Given the description of an element on the screen output the (x, y) to click on. 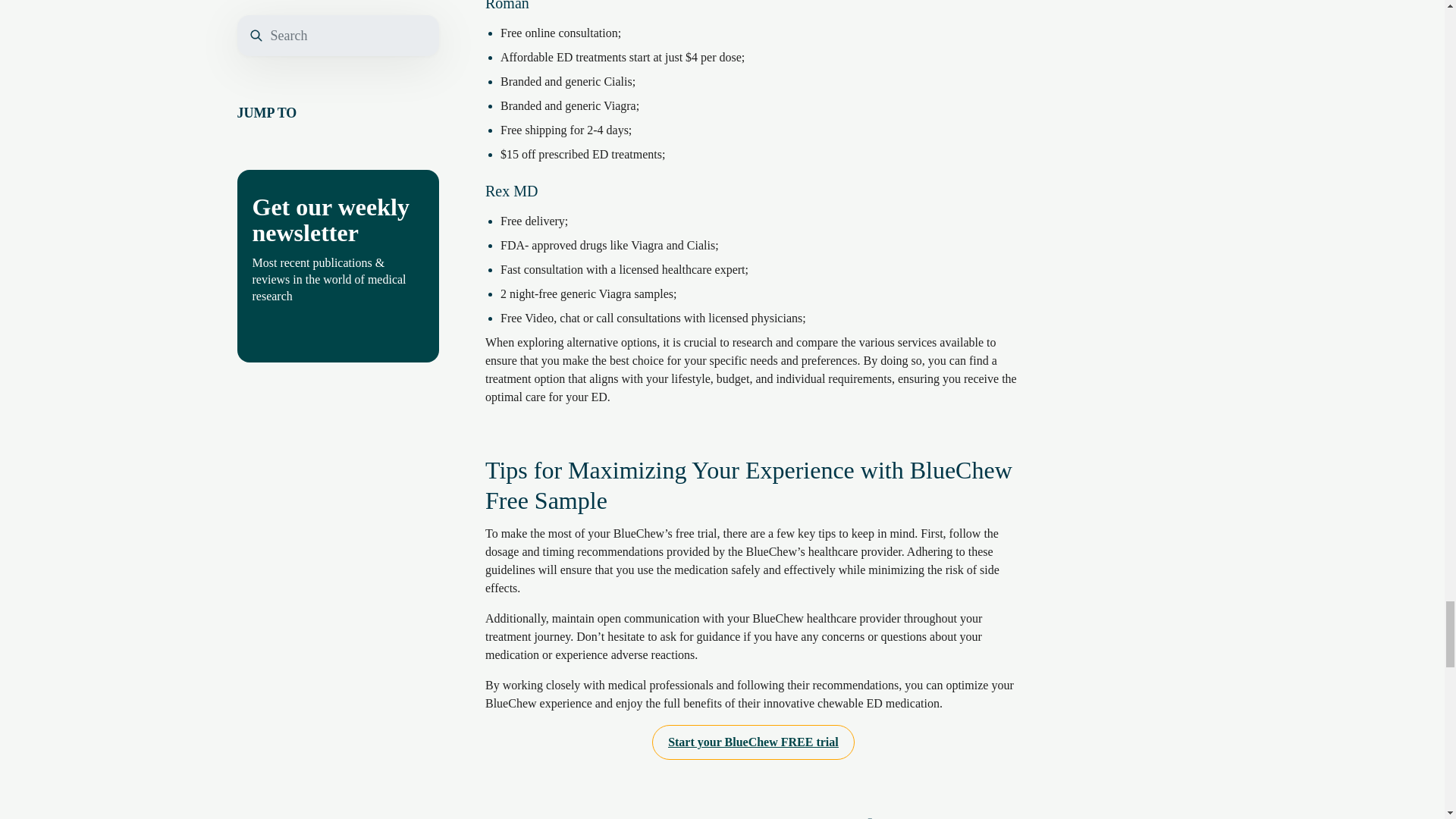
Roman (506, 11)
Rex MD (510, 190)
Start your BlueChew FREE trial (753, 742)
